Given the description of an element on the screen output the (x, y) to click on. 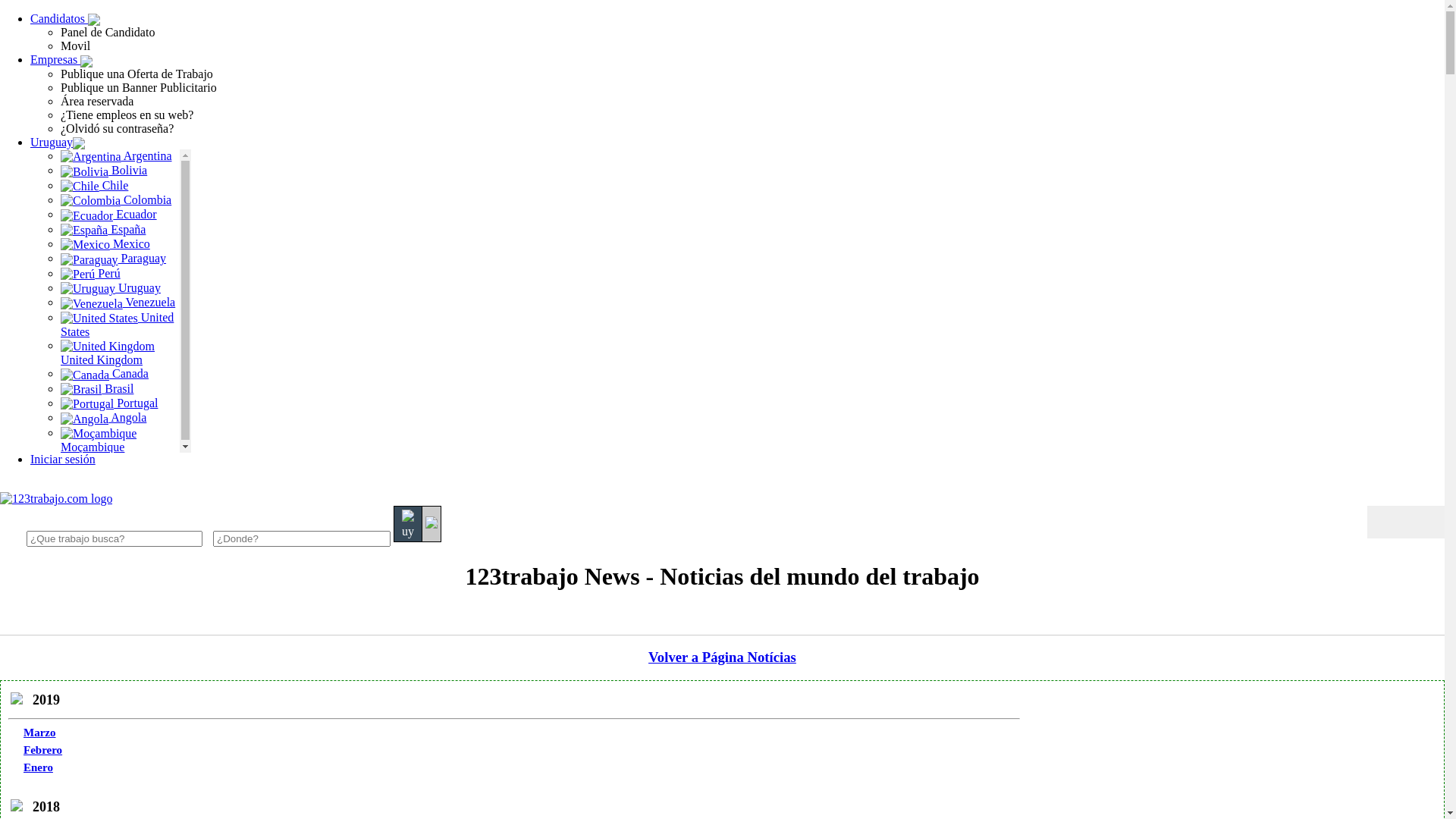
Publique una Oferta de Trabajo Element type: text (752, 74)
Mexico Element type: text (105, 243)
Uruguay Element type: text (110, 287)
Uruguay Element type: text (57, 141)
Brasil Element type: text (96, 388)
Marzo Element type: text (39, 732)
Empresas Element type: text (61, 59)
Paraguay Element type: text (113, 257)
Publique un Banner Publicitario Element type: text (752, 87)
United States Element type: text (116, 324)
Movil Element type: text (133, 46)
Canada Element type: text (104, 373)
Panel de Candidato Element type: text (133, 32)
Candidatos Element type: text (65, 18)
Febrero Element type: text (42, 749)
Venezuela Element type: text (117, 301)
Argentina Element type: text (116, 155)
  uy Element type: text (408, 523)
United Kingdom Element type: text (107, 352)
Chile Element type: text (94, 184)
Ecuador Element type: text (108, 213)
Angola Element type: text (103, 417)
Colombia Element type: text (115, 199)
Bolivia Element type: text (103, 169)
Portugal Element type: text (108, 402)
Enero Element type: text (38, 767)
